Given the description of an element on the screen output the (x, y) to click on. 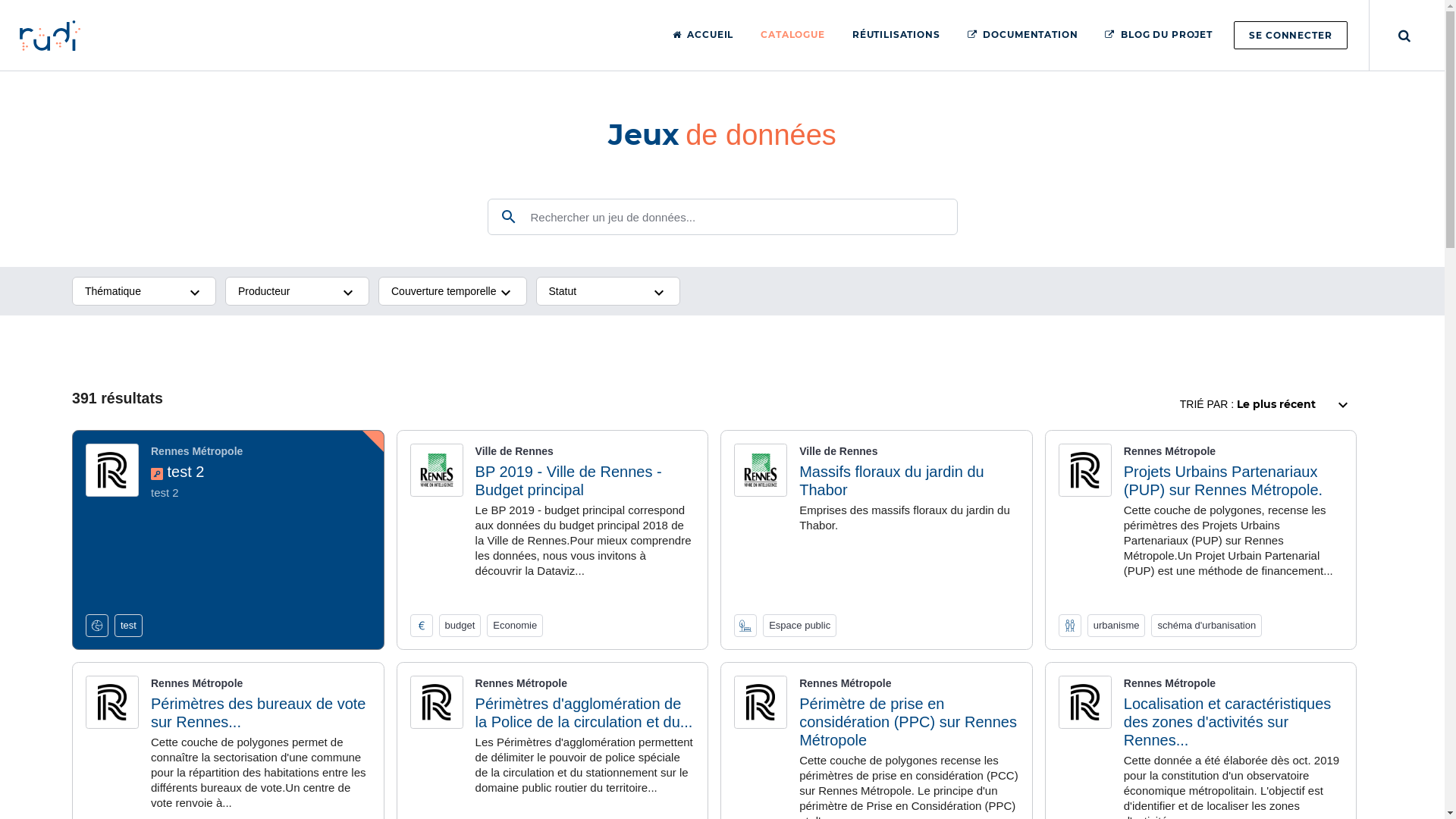
Producteur
keyboard_arrow_down Element type: text (297, 290)
ACCUEIL Element type: text (703, 34)
SE CONNECTER Element type: text (1290, 35)
budget Element type: text (460, 625)
Group 2 Created with Sketch. Element type: text (49, 34)
Espace public Element type: text (799, 625)
Statut
keyboard_arrow_down Element type: text (608, 290)
CATALOGUE Element type: text (792, 34)
test Element type: text (128, 625)
DOCUMENTATION Element type: text (1022, 34)
BLOG DU PROJET Element type: text (1158, 34)
urbanisme Element type: text (1116, 625)
Economie Element type: text (514, 625)
Couverture temporelle
keyboard_arrow_down Element type: text (452, 290)
